Given the description of an element on the screen output the (x, y) to click on. 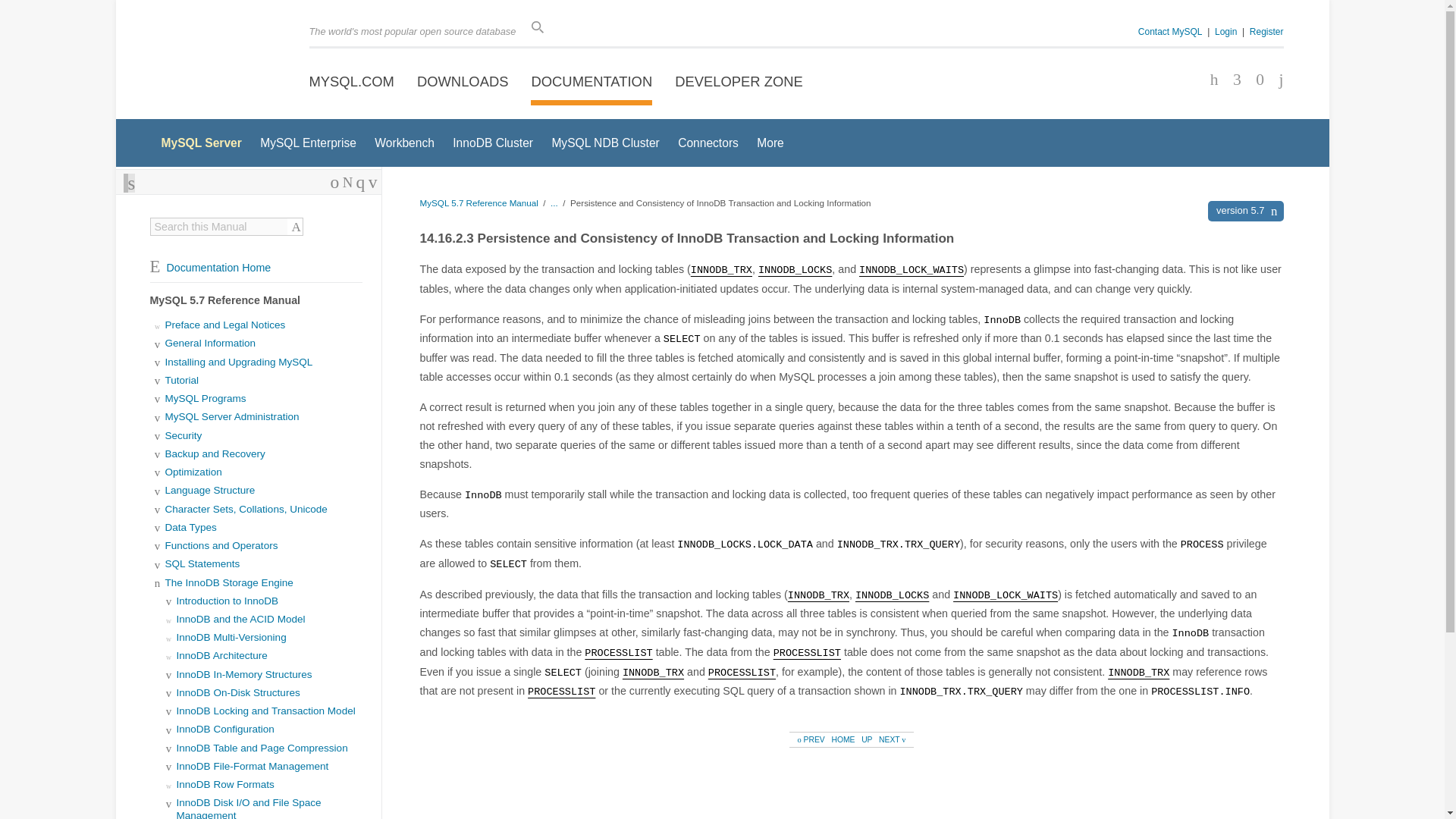
Workbench (403, 142)
Follow us on X (1231, 80)
Start (347, 181)
Visit our YouTube channel (1276, 80)
Search (295, 226)
Documentation Home (209, 267)
MySQL (214, 60)
Join us on Facebook (1208, 80)
Search this Manual (217, 226)
Installing and Upgrading MySQL (239, 361)
InnoDB Cluster (492, 142)
Contact MySQL (1170, 31)
MySQL Server (200, 142)
Connectors (708, 142)
Follow us on LinkedIn (1253, 80)
